Given the description of an element on the screen output the (x, y) to click on. 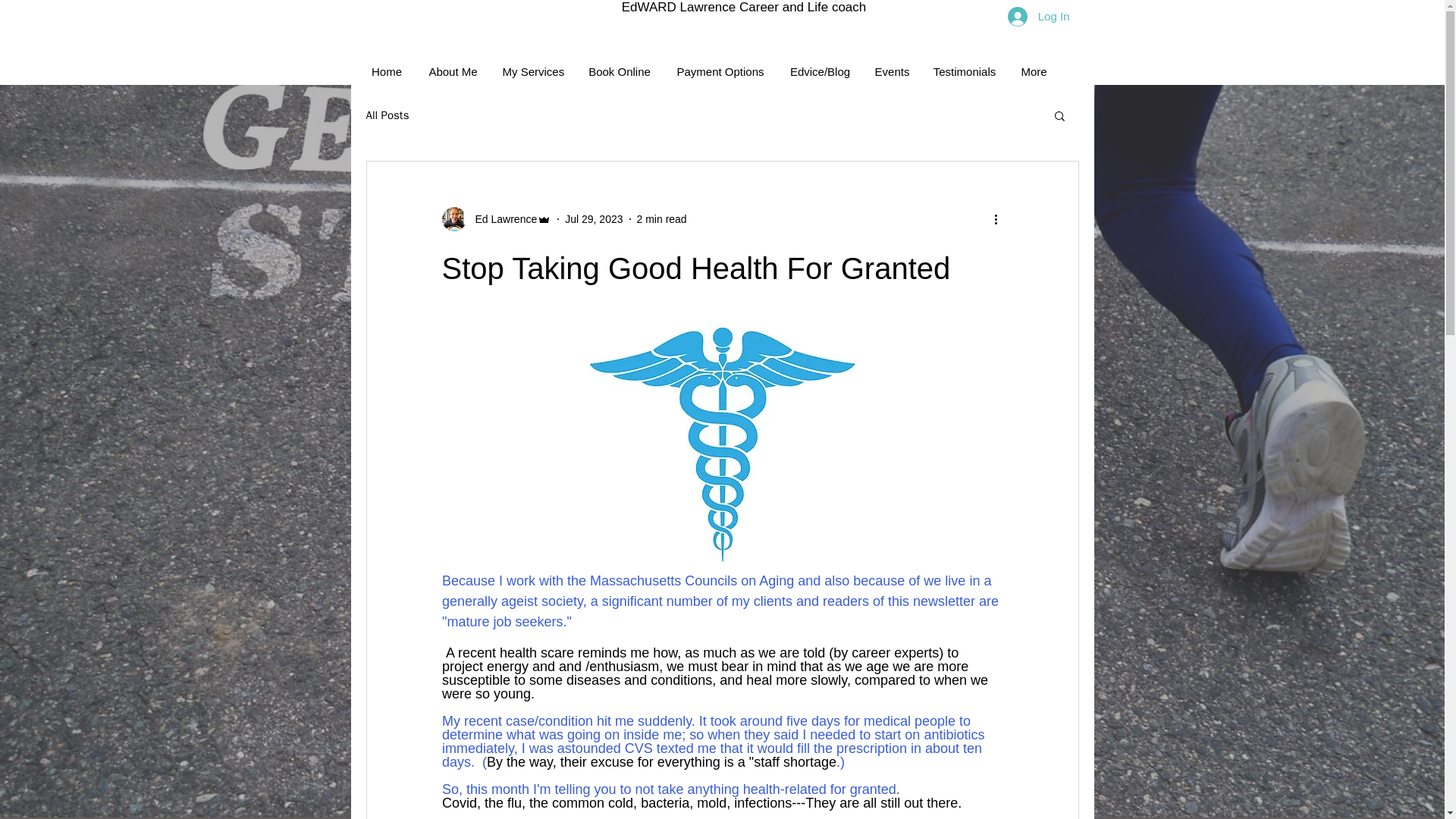
Home (386, 71)
Ed Lawrence (501, 218)
All Posts (387, 114)
Jul 29, 2023 (593, 218)
Book Online (619, 71)
Log In (1038, 15)
Ed Lawrence (496, 218)
2 min read (662, 218)
About Me (453, 71)
EdWARD Lawrence Career and Life coach (743, 7)
Testimonials (963, 71)
Payment Options (720, 71)
Events (891, 71)
